Given the description of an element on the screen output the (x, y) to click on. 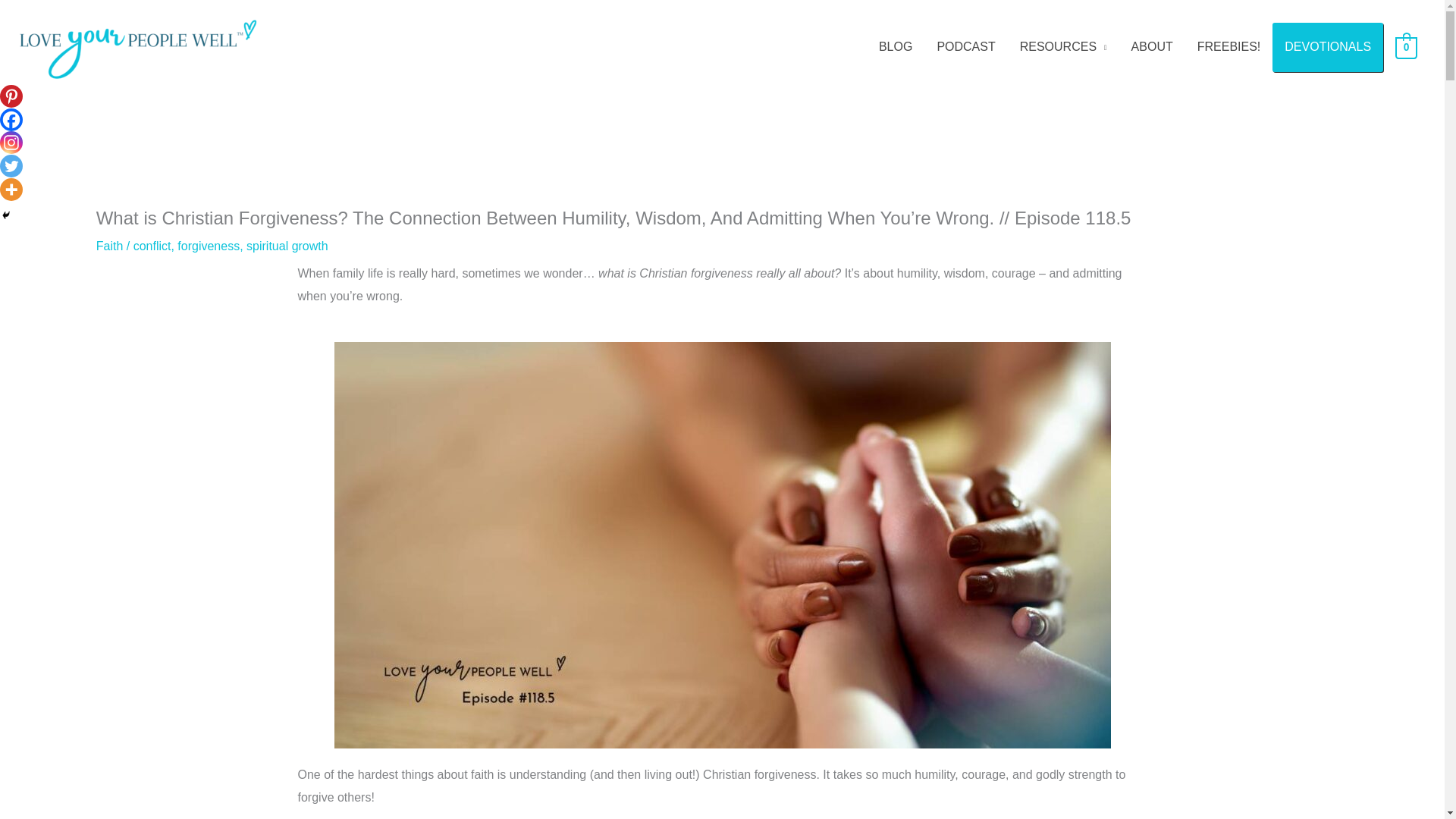
Twitter (11, 165)
Faith (109, 245)
forgiveness (208, 245)
BLOG (895, 47)
DEVOTIONALS (1327, 47)
Facebook (11, 119)
conflict (152, 245)
0 (1405, 47)
ABOUT (1152, 47)
spiritual growth (287, 245)
